Given the description of an element on the screen output the (x, y) to click on. 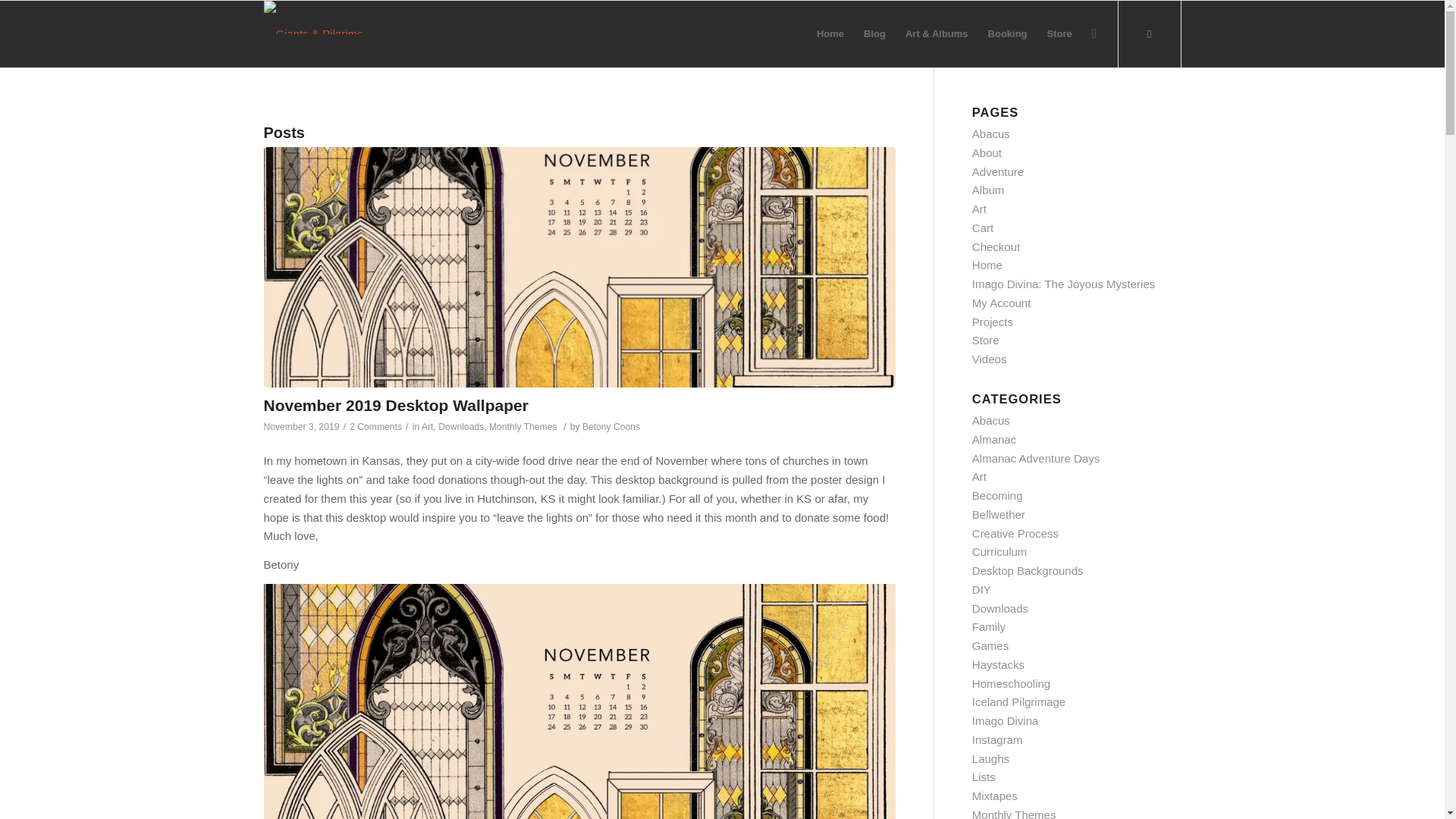
Abacus (991, 420)
Store (985, 339)
Cart (982, 227)
Becoming (997, 495)
Videos (989, 358)
Permanent Link: November 2019 Desktop Wallpaper (395, 405)
Bellwether (998, 513)
Monthly Themes (523, 426)
Creative Process (1015, 533)
Posts by Betony Coons (611, 426)
